Given the description of an element on the screen output the (x, y) to click on. 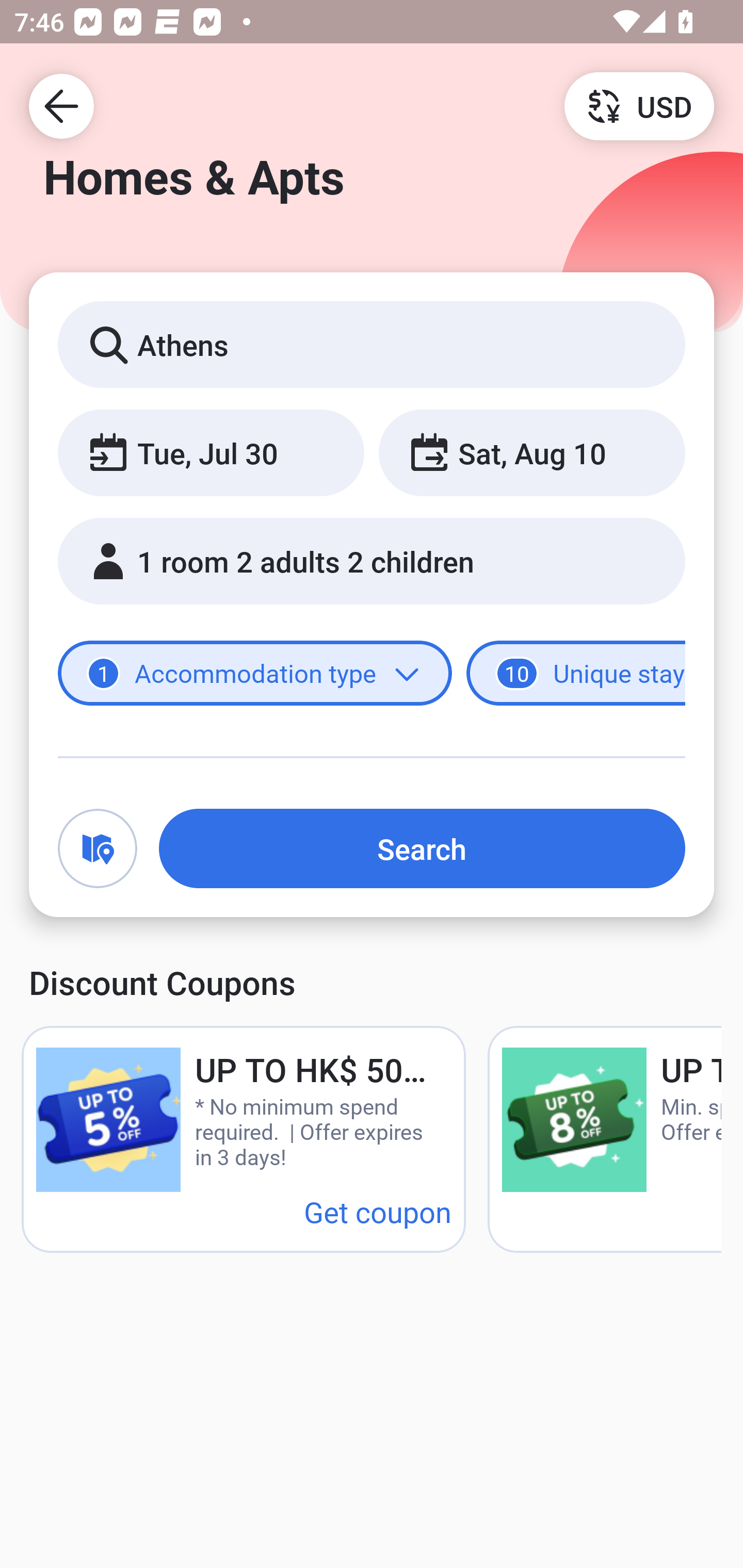
USD (639, 105)
Athens (371, 344)
Tue, Jul 30 (210, 452)
Sat, Aug 10 (531, 452)
1 room 2 adults 2 children (371, 561)
1 Accommodation type (254, 673)
10 Unique stays (575, 673)
Search (422, 848)
Get coupon (377, 1211)
